Given the description of an element on the screen output the (x, y) to click on. 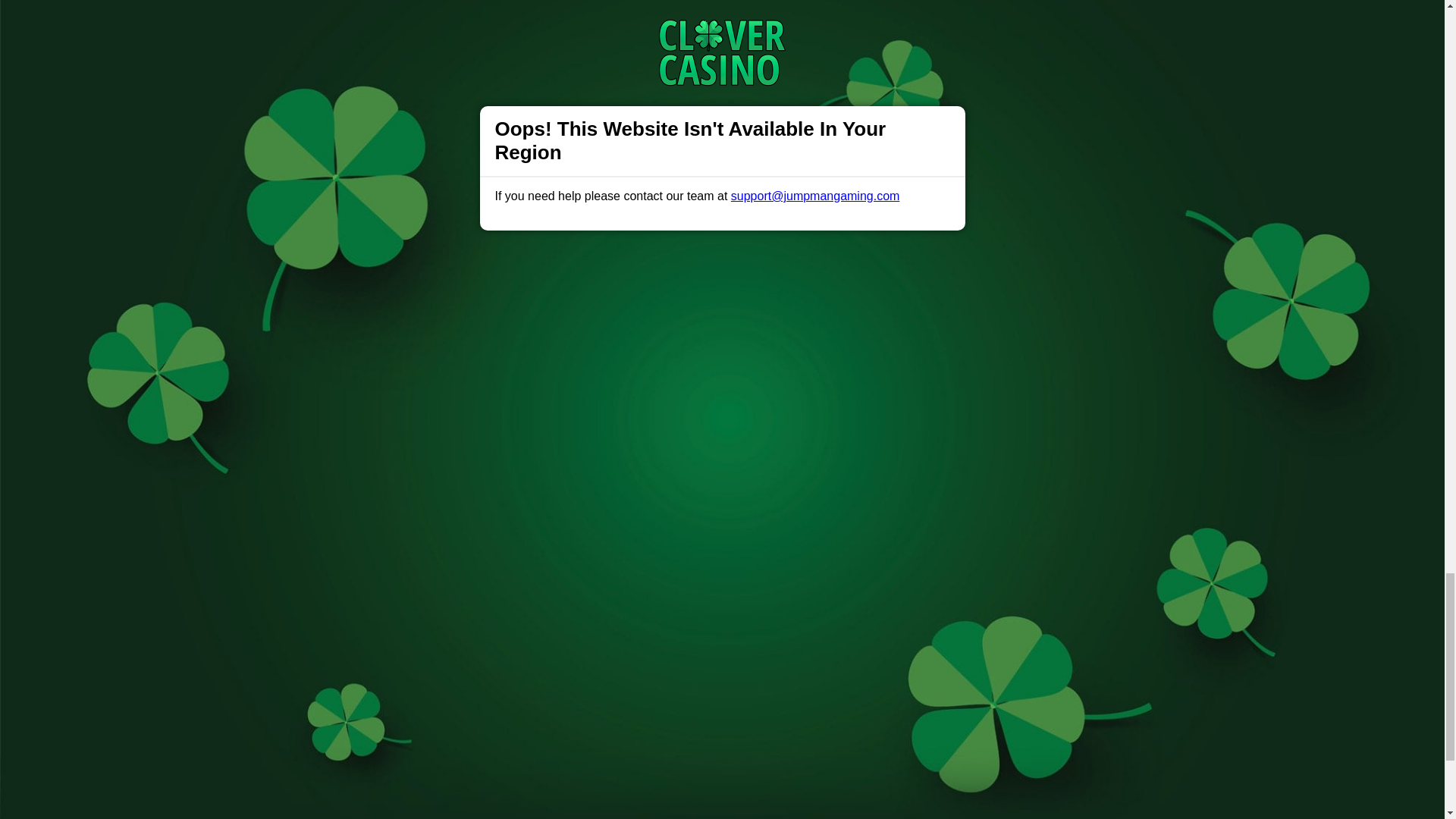
John Hunter and the Book of Tut Respin (480, 186)
responsible gambling (536, 336)
Gods of Giza (432, 23)
